Given the description of an element on the screen output the (x, y) to click on. 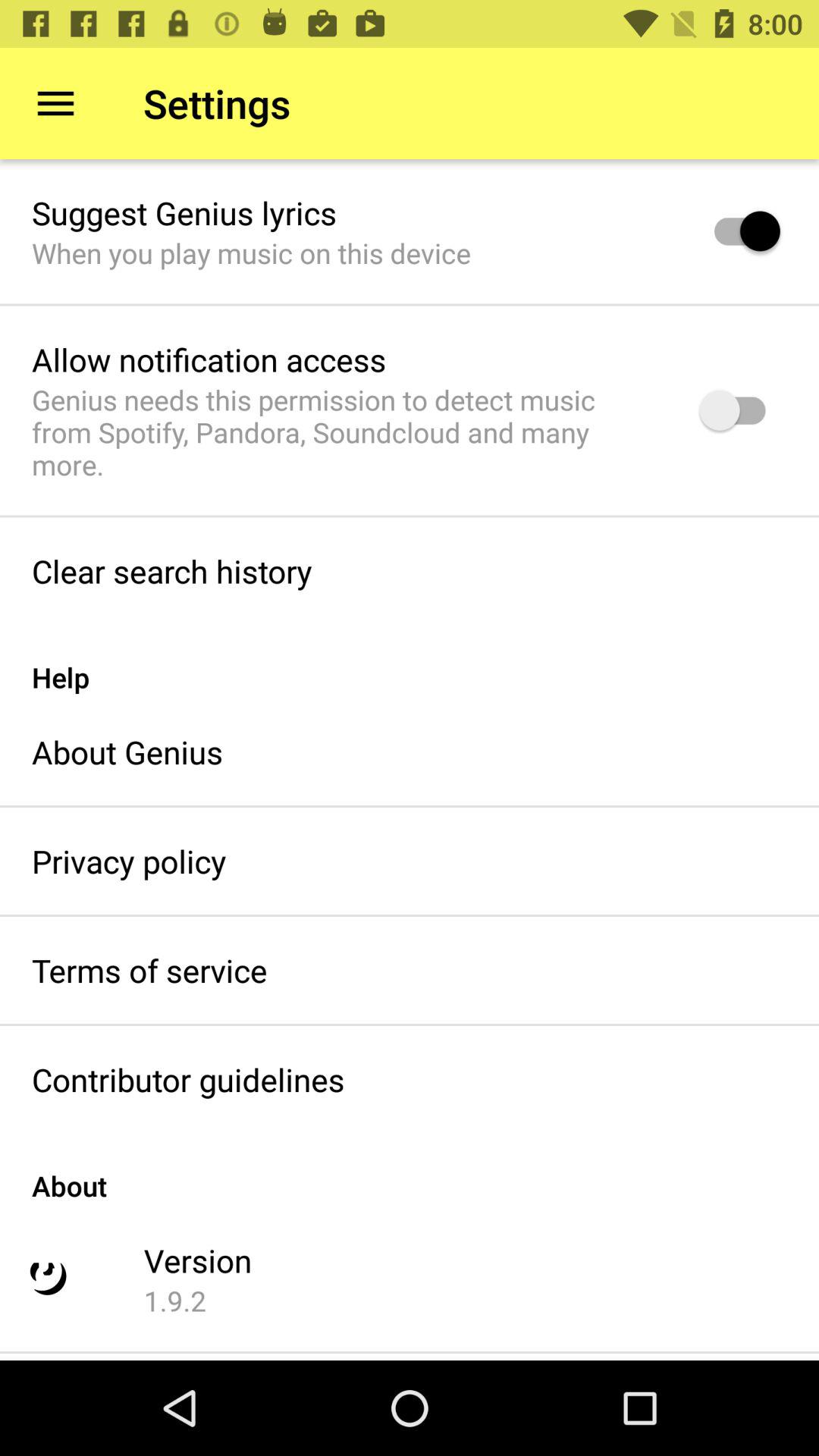
click genius needs this (345, 432)
